Given the description of an element on the screen output the (x, y) to click on. 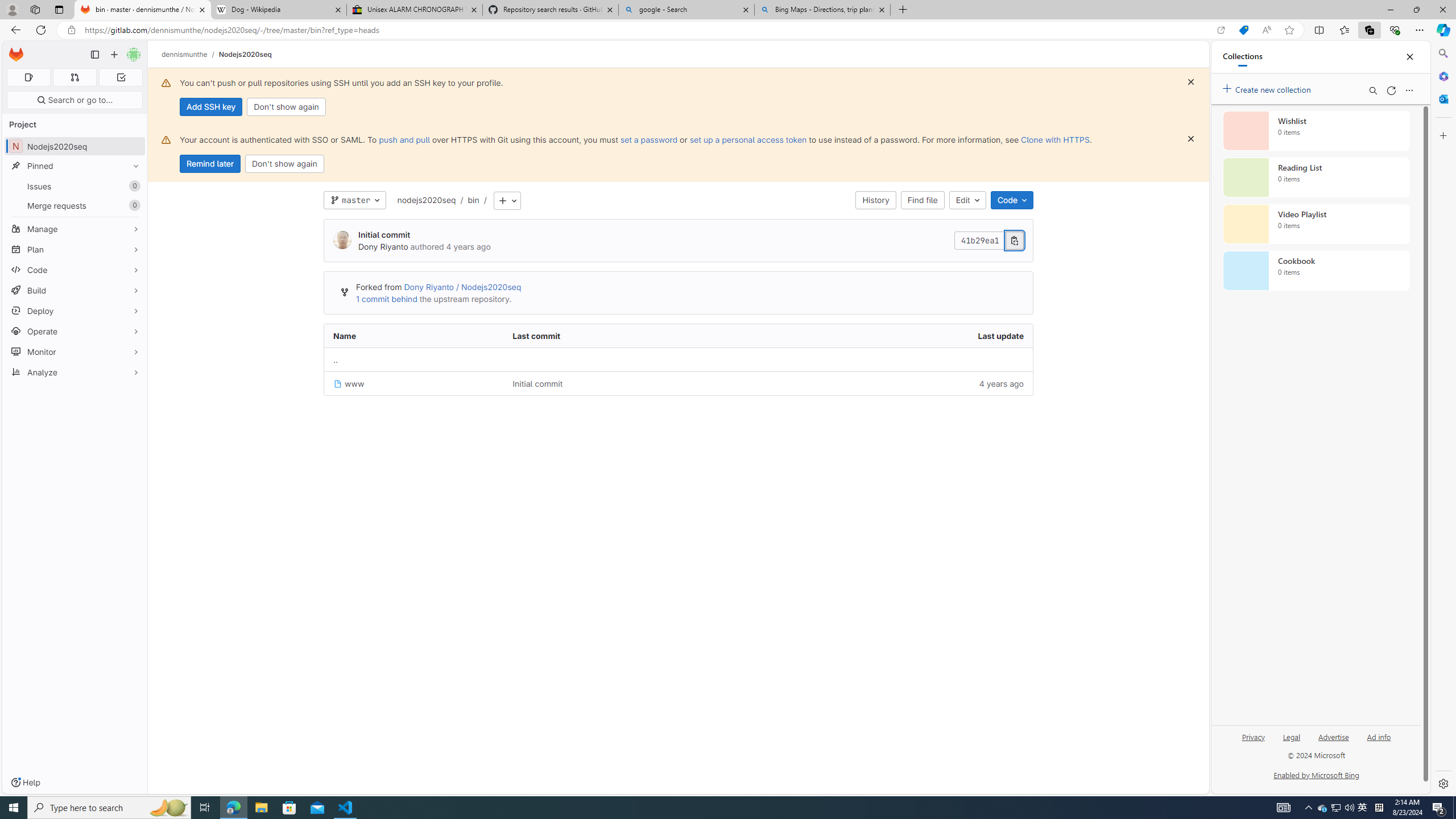
Manage (74, 228)
More options menu (1409, 90)
Operate (74, 330)
Plan (74, 248)
Merge requests 0 (74, 205)
Name (413, 336)
Wishlist collection, 0 items (1316, 130)
NNodejs2020seq (74, 145)
Manage (74, 228)
Operate (74, 330)
